Given the description of an element on the screen output the (x, y) to click on. 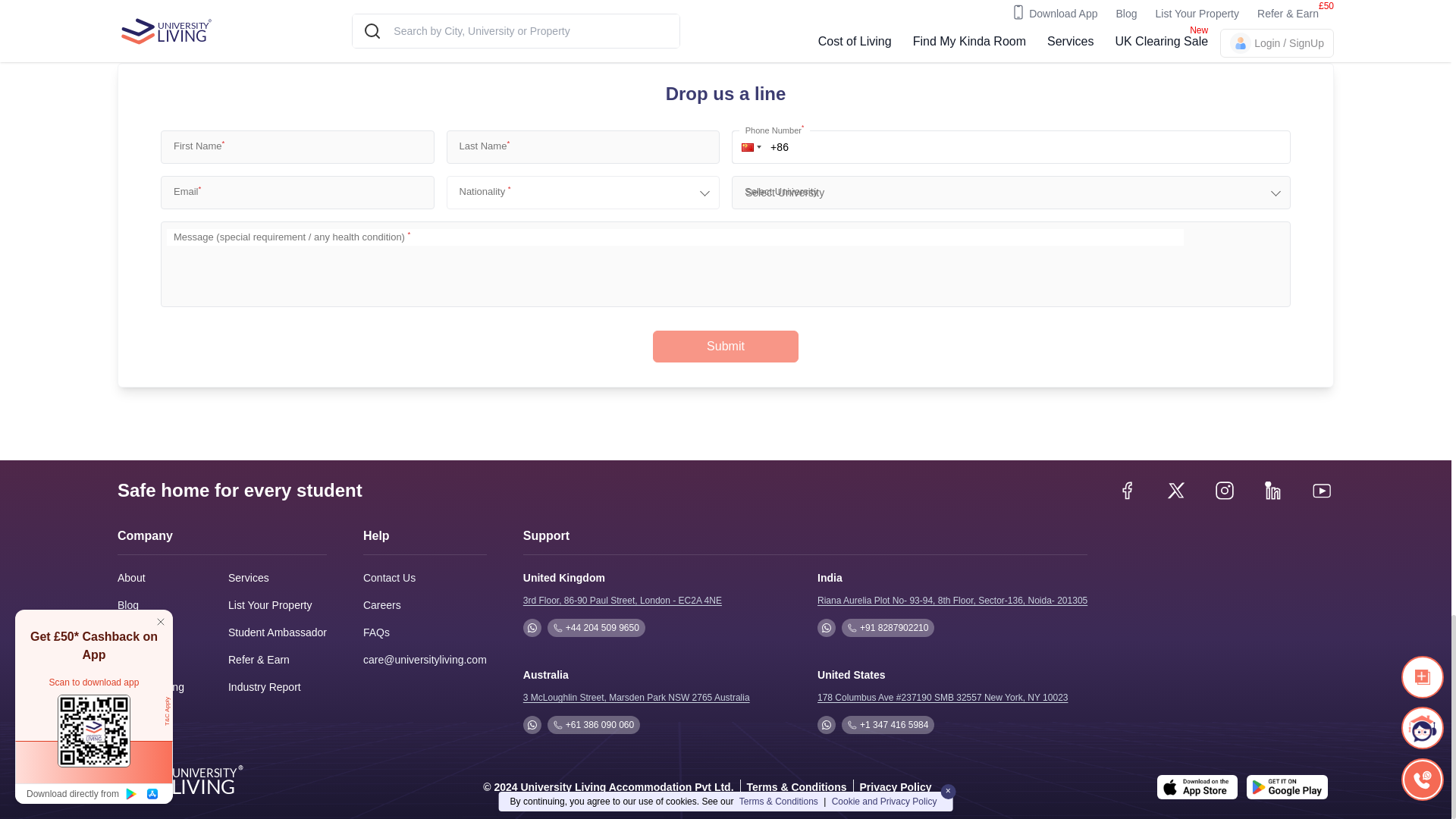
FAQs (376, 632)
Community (144, 659)
Services (248, 577)
Contact Us (388, 577)
List Your Property (270, 604)
Industry Report (264, 686)
Blog (127, 604)
Scholarship (145, 631)
About (131, 577)
Cost Of Living (150, 686)
